Given the description of an element on the screen output the (x, y) to click on. 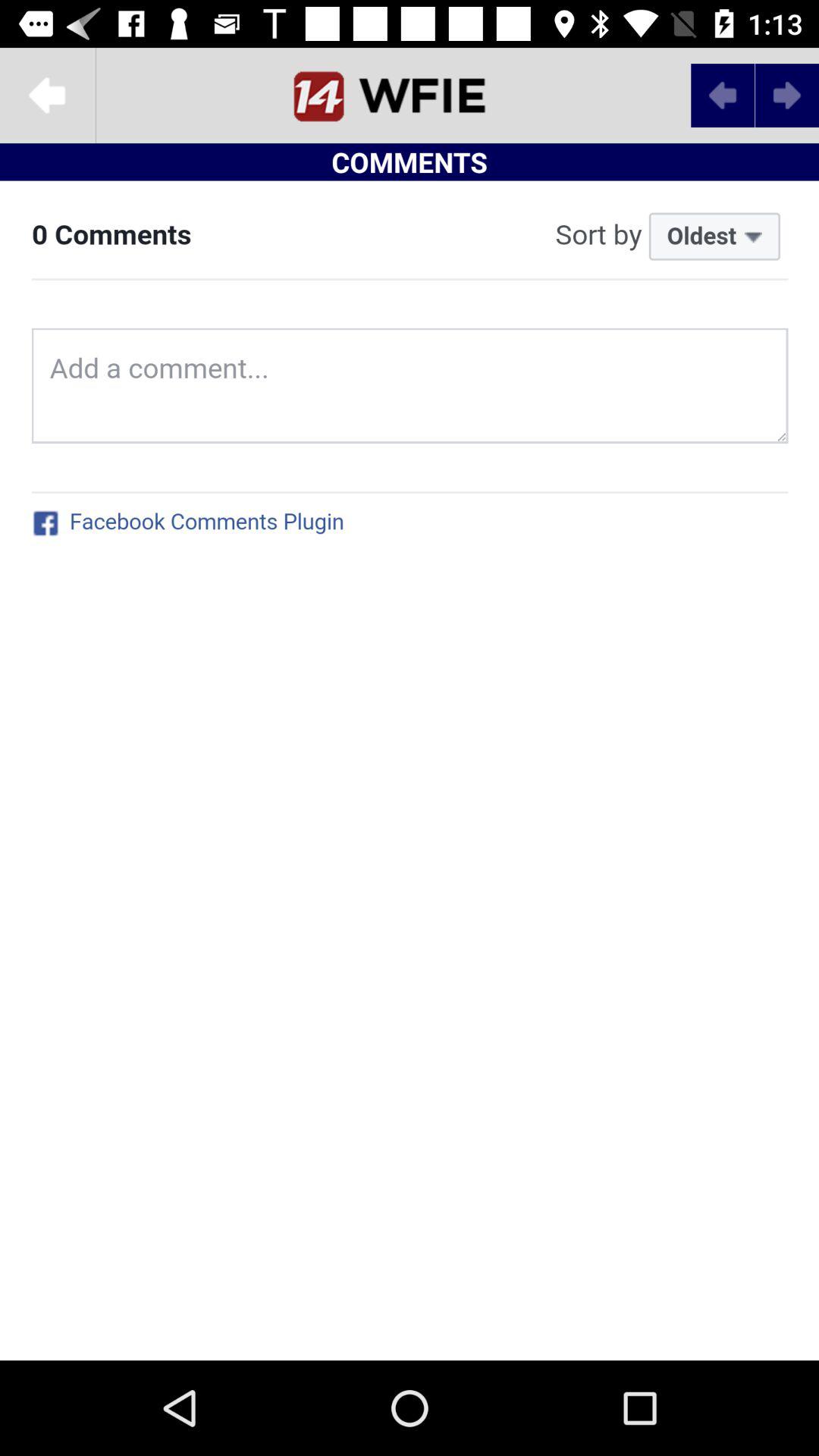
next article (787, 95)
